Given the description of an element on the screen output the (x, y) to click on. 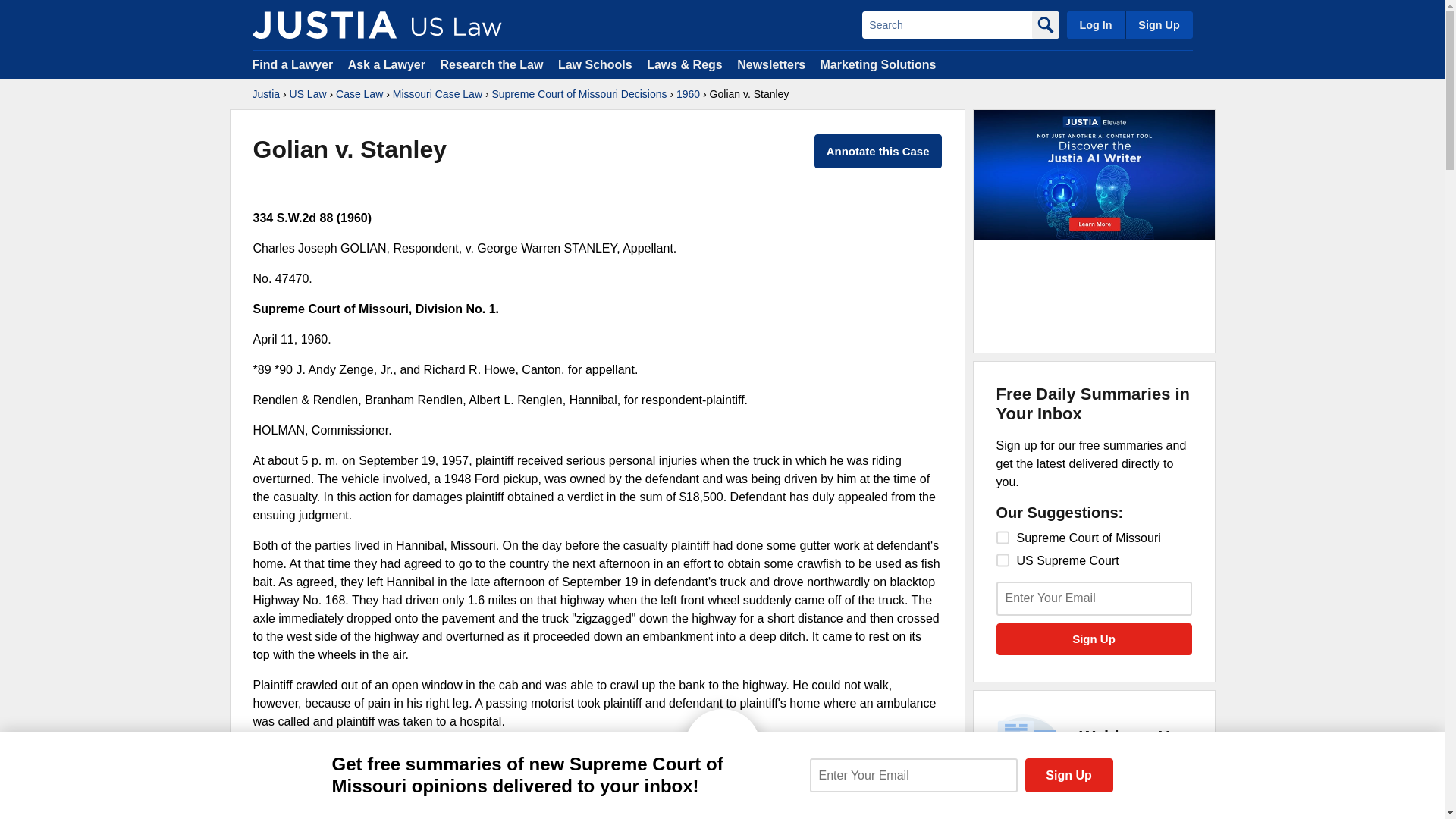
Law Schools (594, 64)
Enter email (913, 775)
Research the Law (491, 64)
US Law (307, 93)
Find a Lawyer (292, 64)
Log In (1094, 24)
Search (945, 24)
Missouri Case Law (437, 93)
Supreme Court of Missouri Decisions (579, 93)
Annotate this Case (877, 151)
Sign Up (1158, 24)
Ask a Lawyer (388, 64)
Newsletters (770, 64)
Justia (265, 93)
14 (1002, 559)
